Given the description of an element on the screen output the (x, y) to click on. 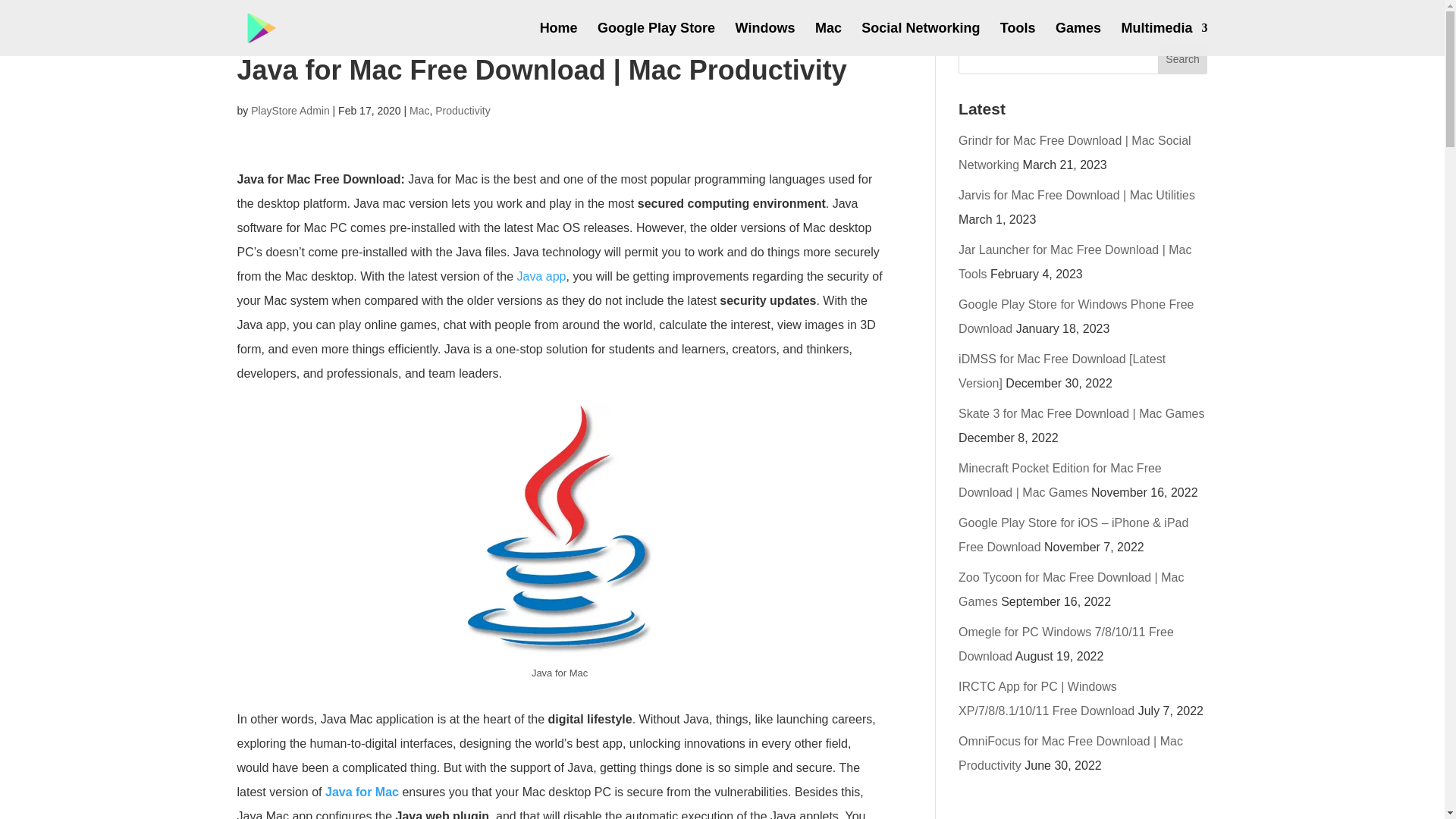
Mac (419, 110)
Home (559, 39)
Productivity (462, 110)
PlayStore Admin (290, 110)
Games (1077, 39)
Social Networking (920, 39)
Java app (541, 276)
Search (1182, 59)
Java for Mac (361, 791)
Tools (1017, 39)
